Given the description of an element on the screen output the (x, y) to click on. 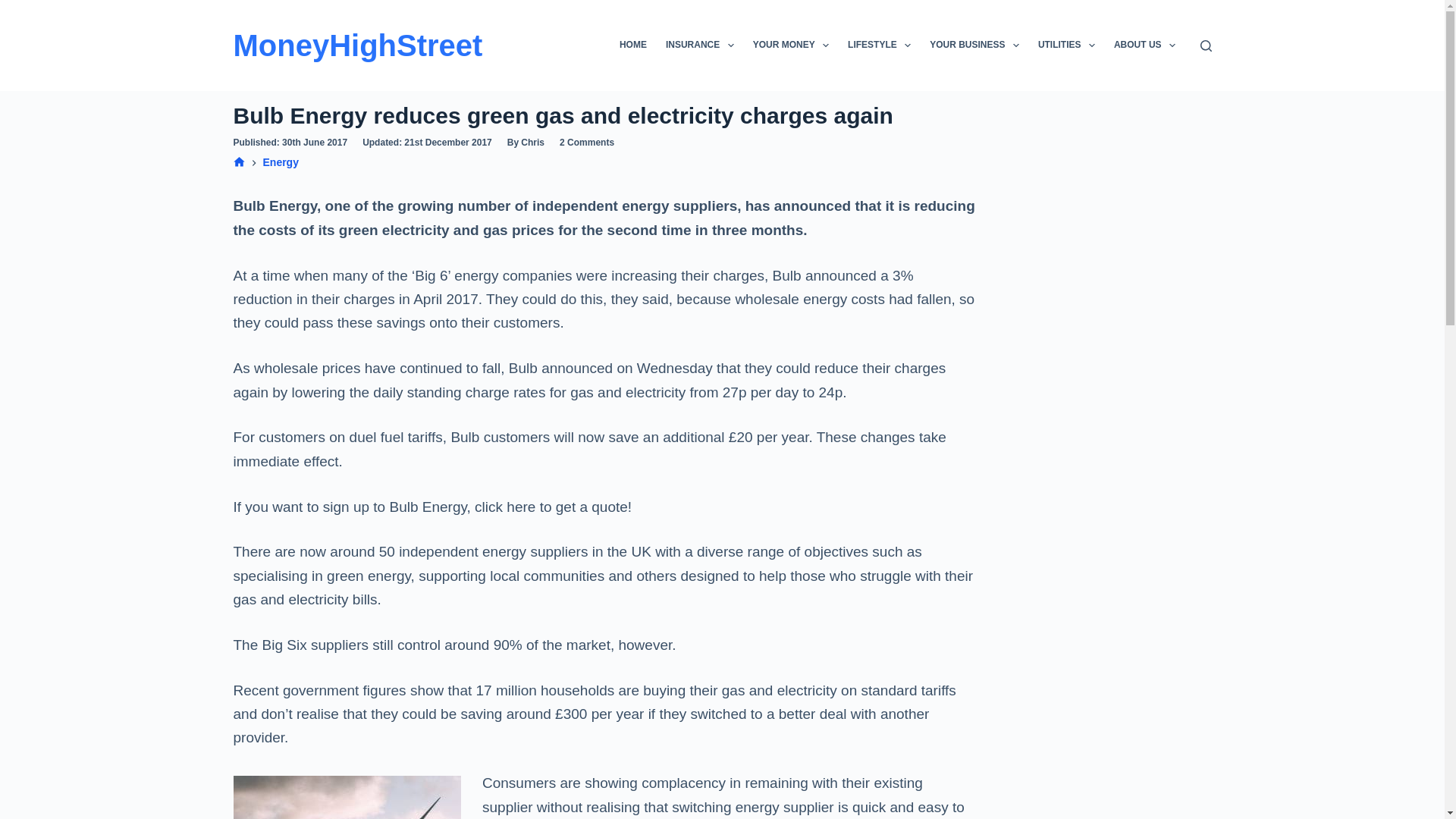
Posts by Chris (532, 142)
Bulb Energy reduces green gas and electricity charges again (604, 115)
Skip to content (15, 7)
